Given the description of an element on the screen output the (x, y) to click on. 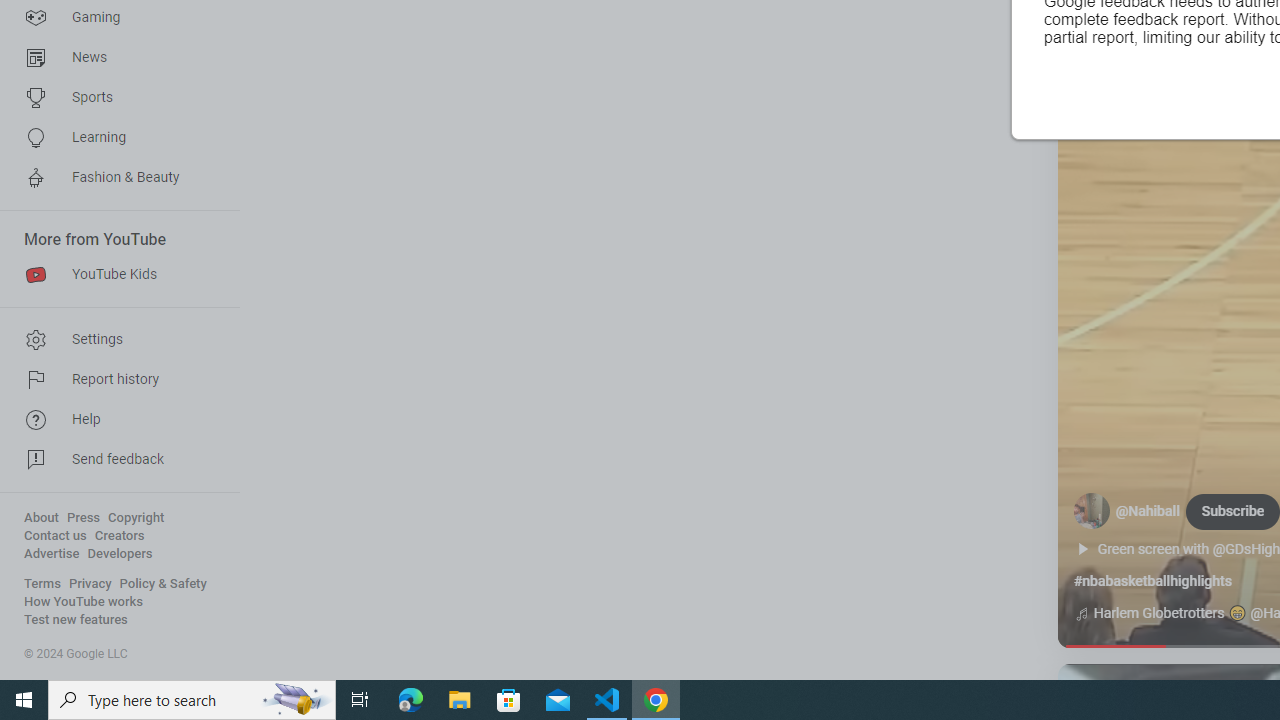
News (113, 57)
Send feedback (113, 459)
Learning (113, 137)
Fashion & Beauty (113, 177)
@Nahiball (1147, 511)
music icon (1081, 614)
How YouTube works (83, 602)
Report history (113, 380)
